Given the description of an element on the screen output the (x, y) to click on. 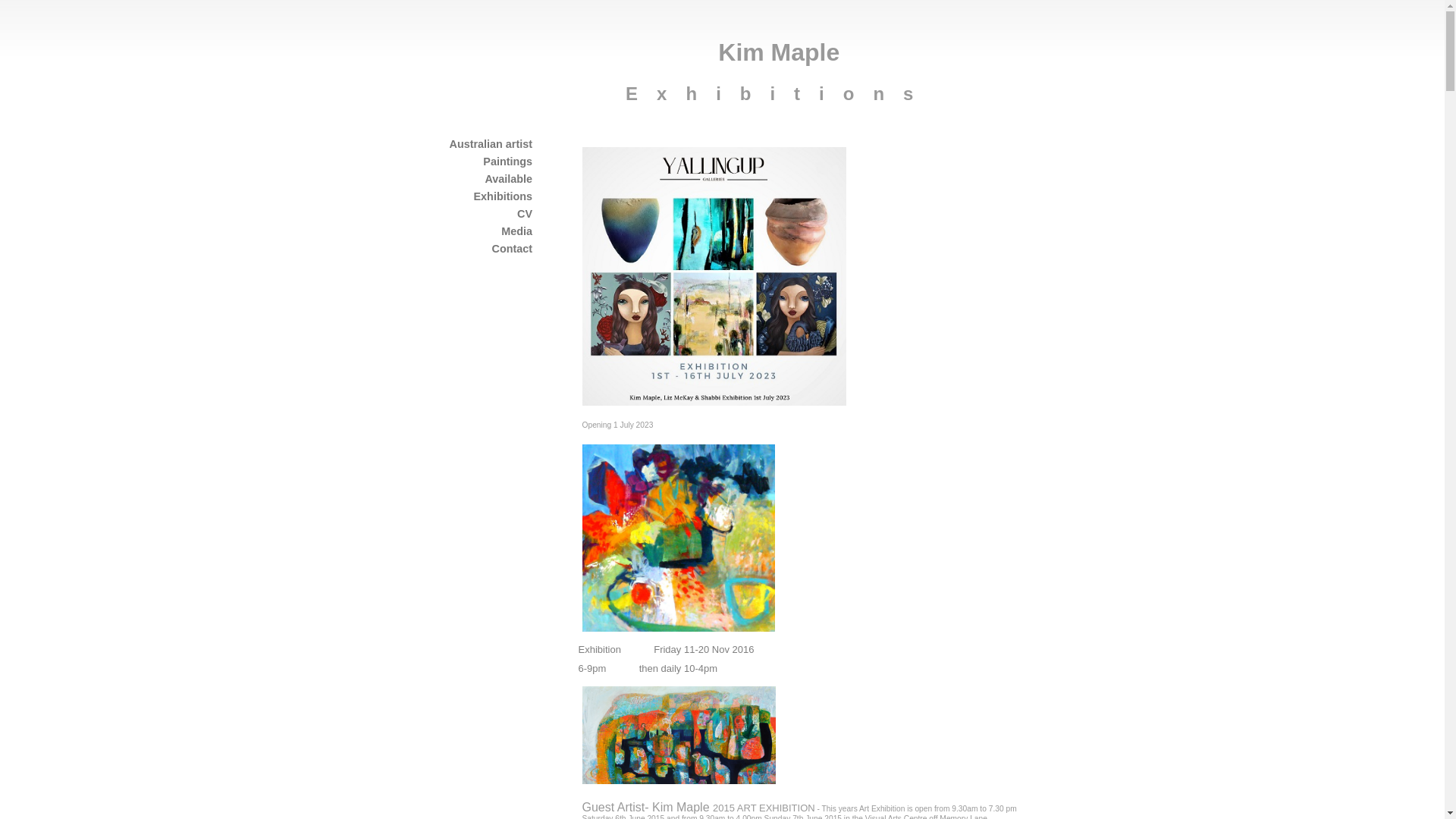
Collection-Oil on linen-2000x1005mm-$5800   Element type: hover (678, 781)
Available Element type: text (508, 178)
Exhibitions Element type: text (502, 196)
Media Element type: text (516, 231)
Australian artist Element type: text (490, 144)
Paintings Element type: text (507, 161)
CV Element type: text (524, 213)
Contact Element type: text (511, 248)
